Given the description of an element on the screen output the (x, y) to click on. 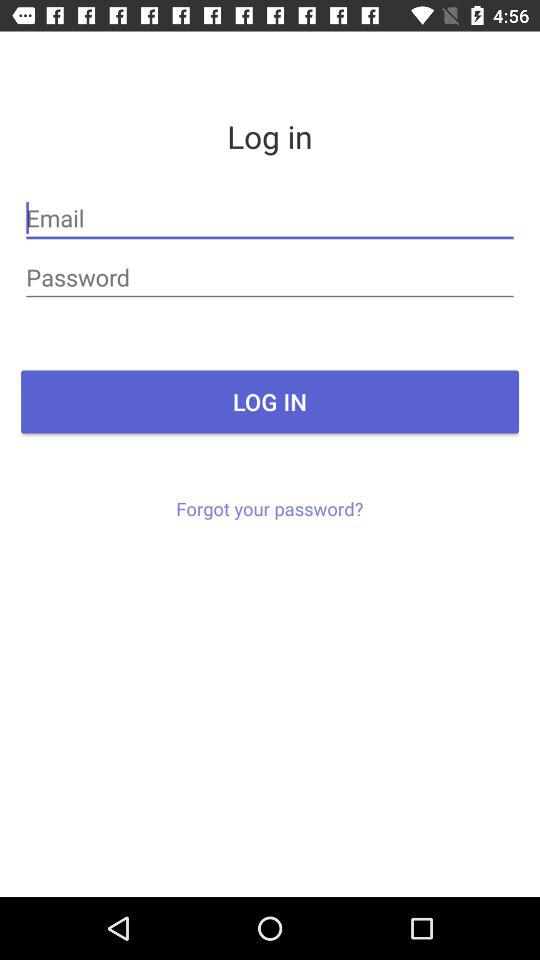
enter email (270, 218)
